Given the description of an element on the screen output the (x, y) to click on. 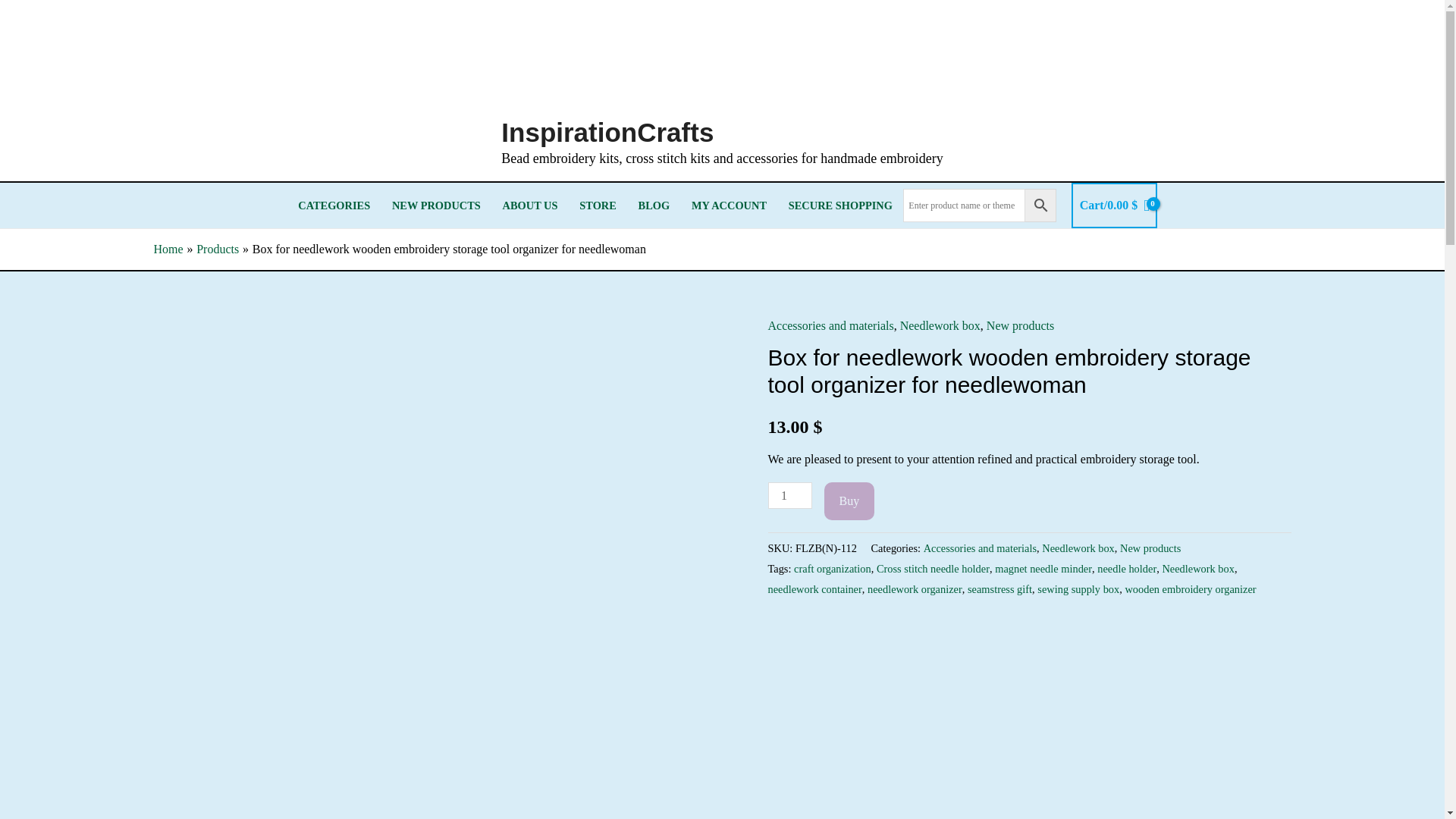
CATEGORIES (333, 205)
InspirationCrafts (606, 132)
1 (788, 495)
